Given the description of an element on the screen output the (x, y) to click on. 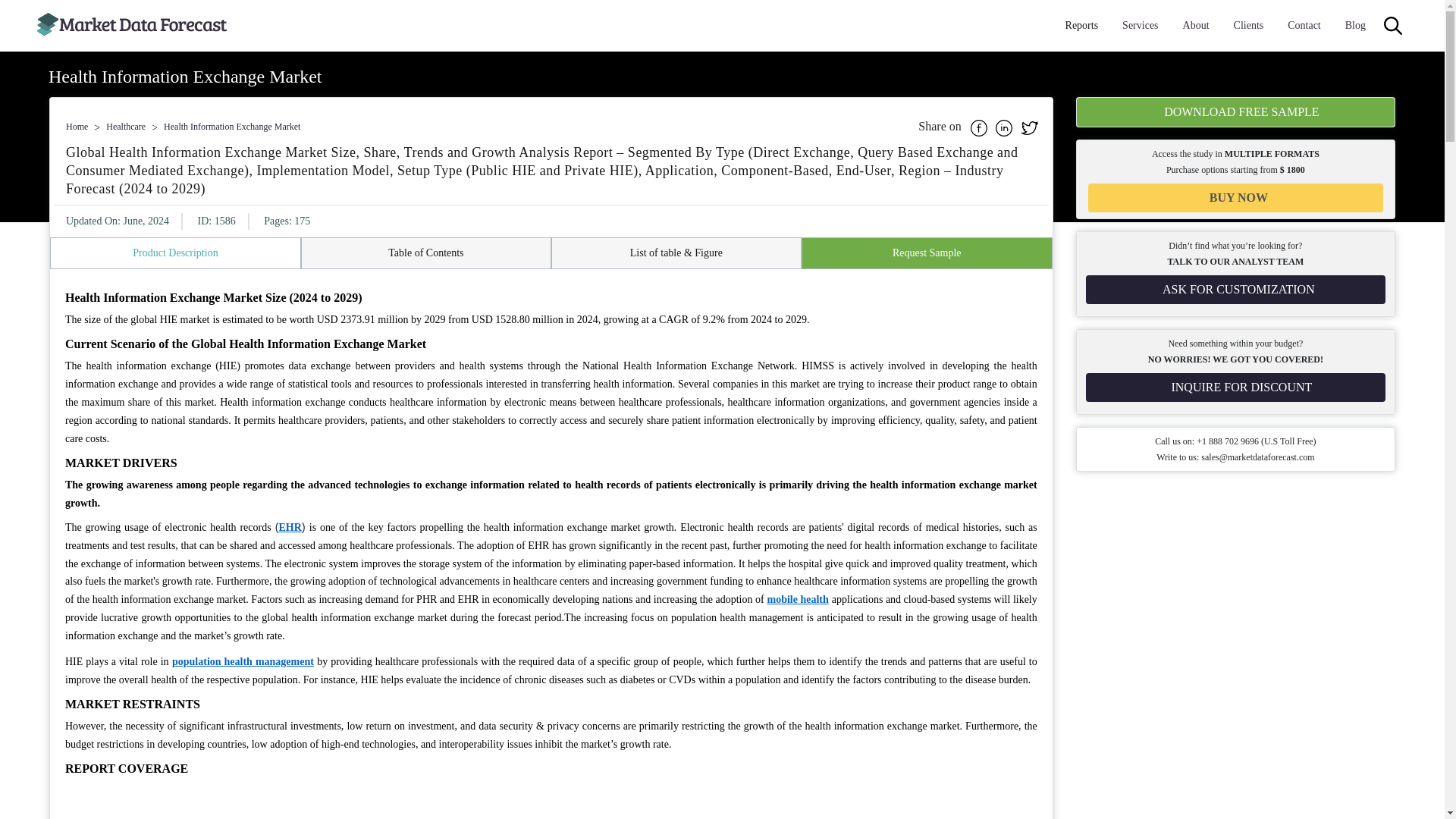
Linkedin (1004, 126)
Health Information Exchange Market (231, 126)
Reports (1082, 25)
search-icon (1393, 25)
EHR (290, 527)
Home (76, 126)
About (1195, 25)
Services (1139, 25)
Table of Contents (425, 253)
Contact (1303, 25)
